Given the description of an element on the screen output the (x, y) to click on. 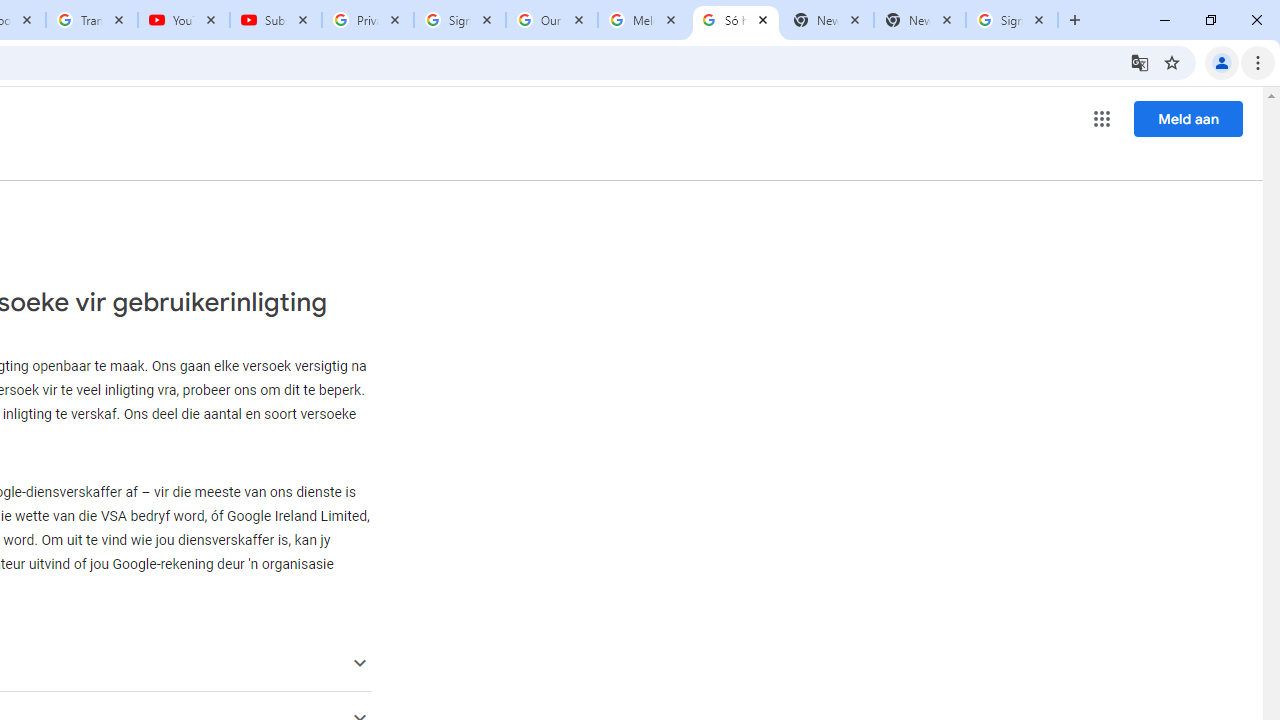
Subscriptions - YouTube (276, 20)
Google-programme (1101, 118)
New Tab (920, 20)
Meld aan (1188, 118)
Translate this page (1139, 62)
